Given the description of an element on the screen output the (x, y) to click on. 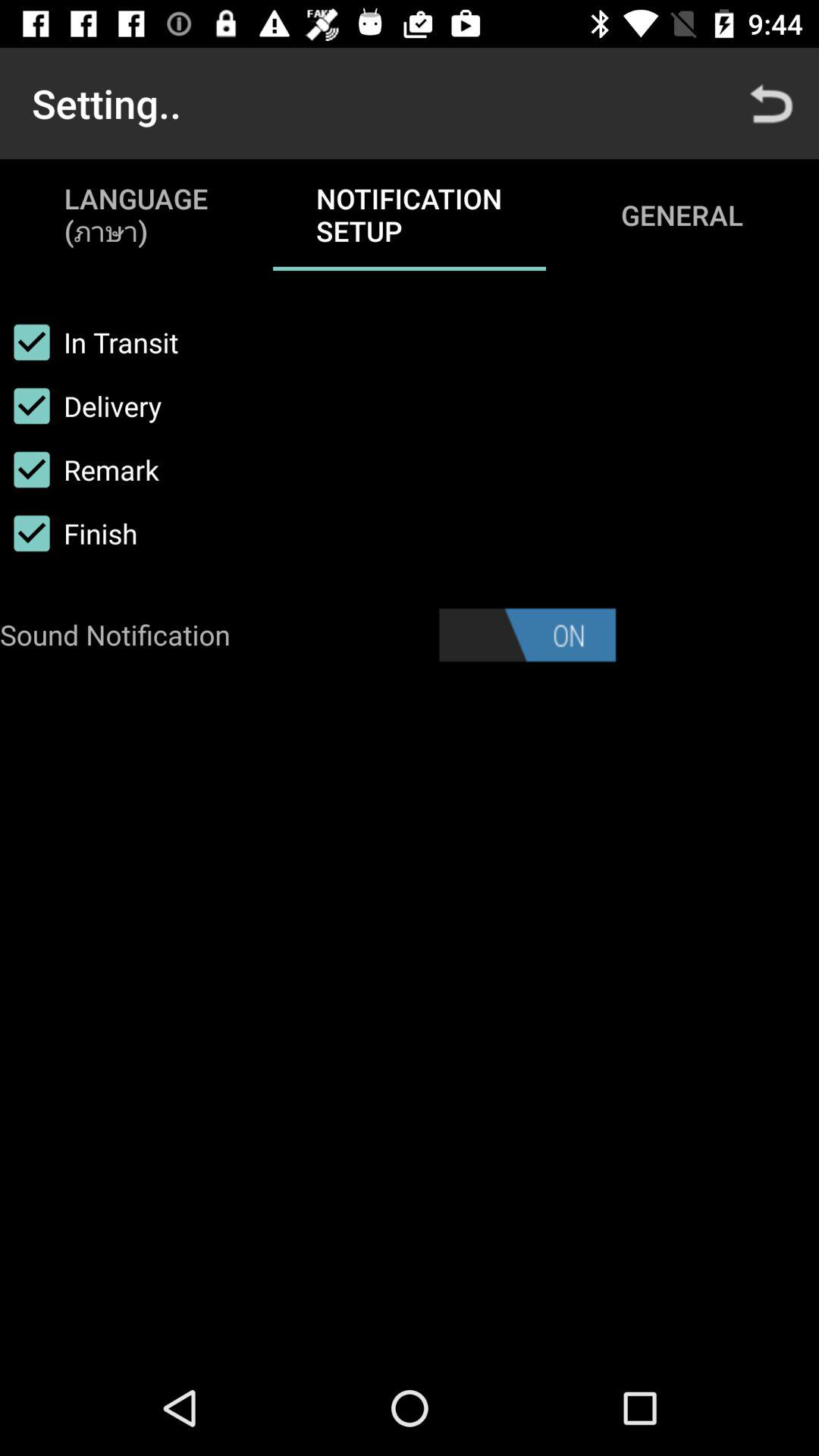
click remark item (79, 469)
